Given the description of an element on the screen output the (x, y) to click on. 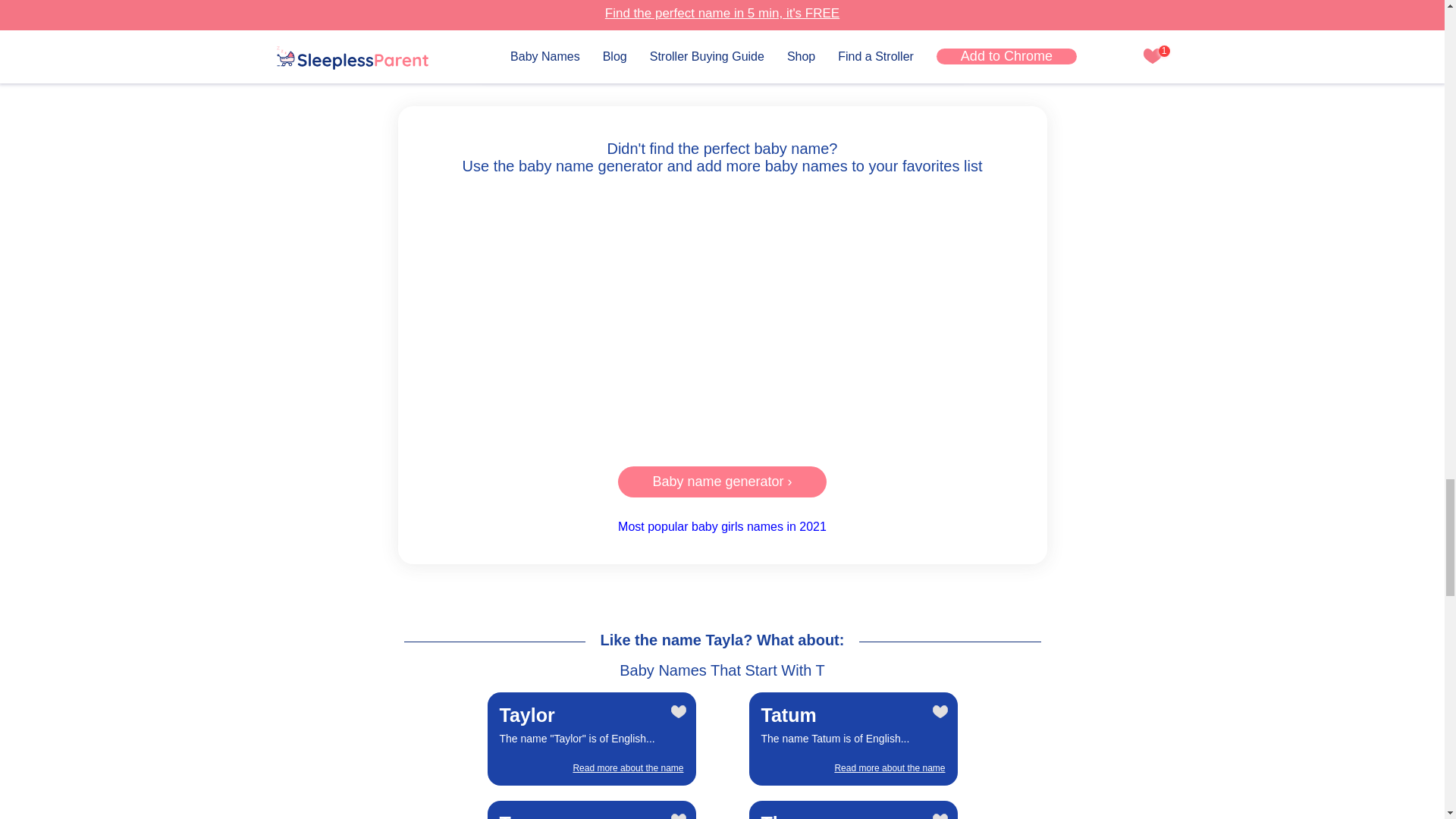
YouTube video player (721, 317)
Most popular baby girls names in 2021 (853, 806)
